Given the description of an element on the screen output the (x, y) to click on. 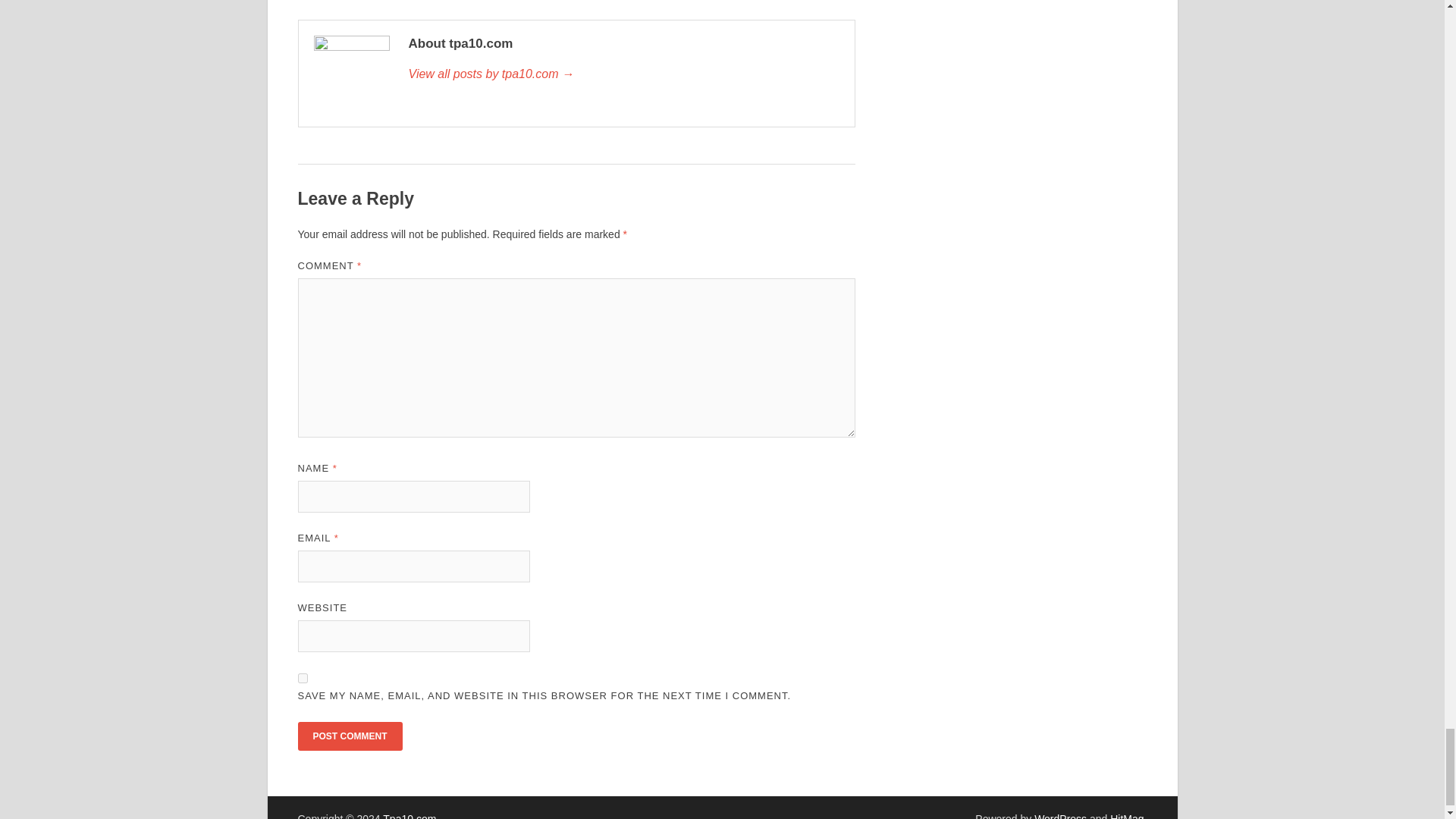
tpa10.com (622, 74)
Post Comment (349, 736)
yes (302, 678)
